Given the description of an element on the screen output the (x, y) to click on. 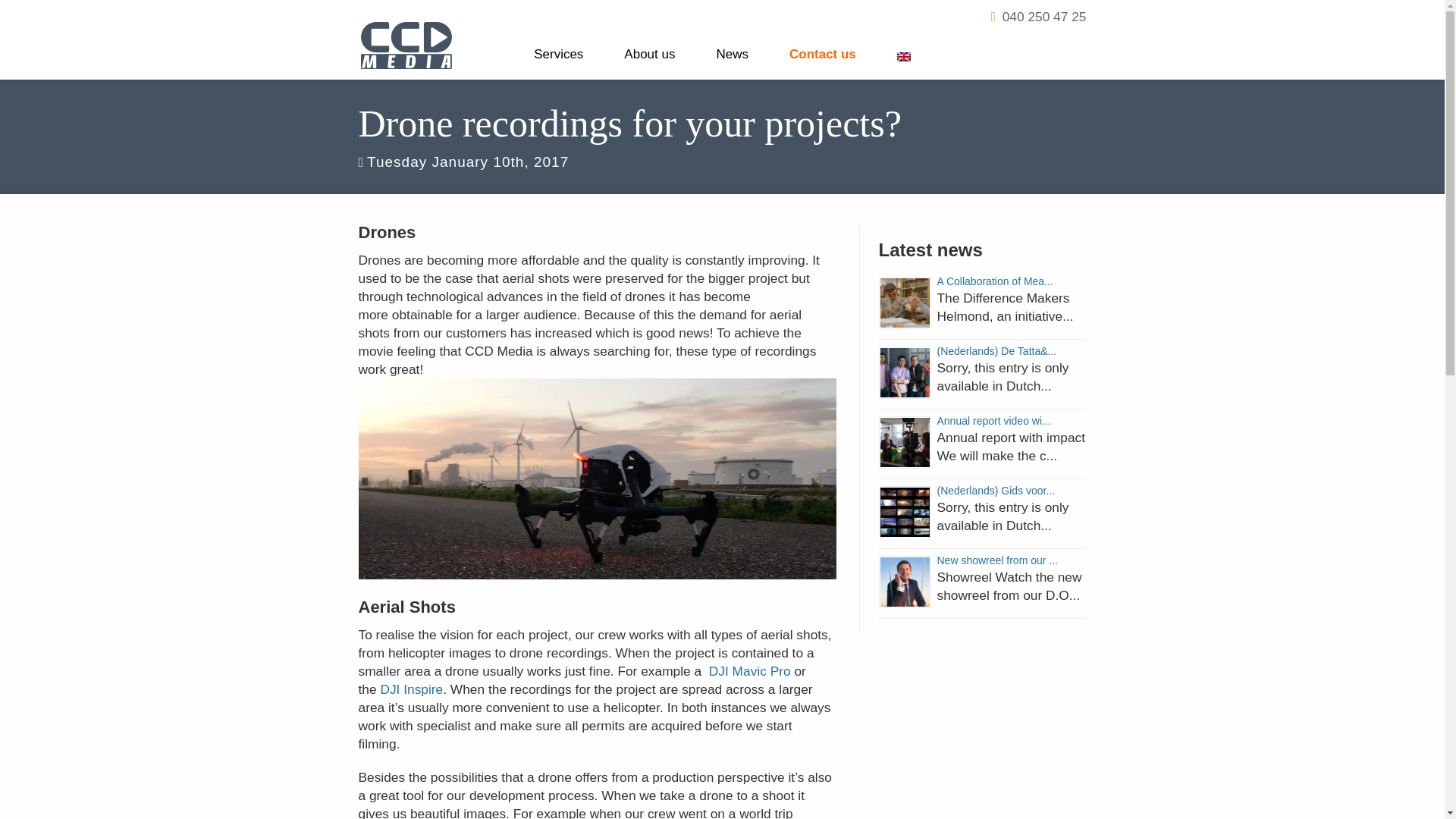
DJI Mavic Pro (749, 670)
English (903, 58)
A Collaboration of Meaning: Cinema commercial Humanitas (994, 281)
About us (649, 52)
DJI Inspire (411, 688)
Annual report video with impact (904, 441)
Annual report video wi... (994, 420)
Contact us (822, 52)
A Collaboration of Meaning: Cinema commercial Humanitas (903, 302)
Services (558, 52)
